Given the description of an element on the screen output the (x, y) to click on. 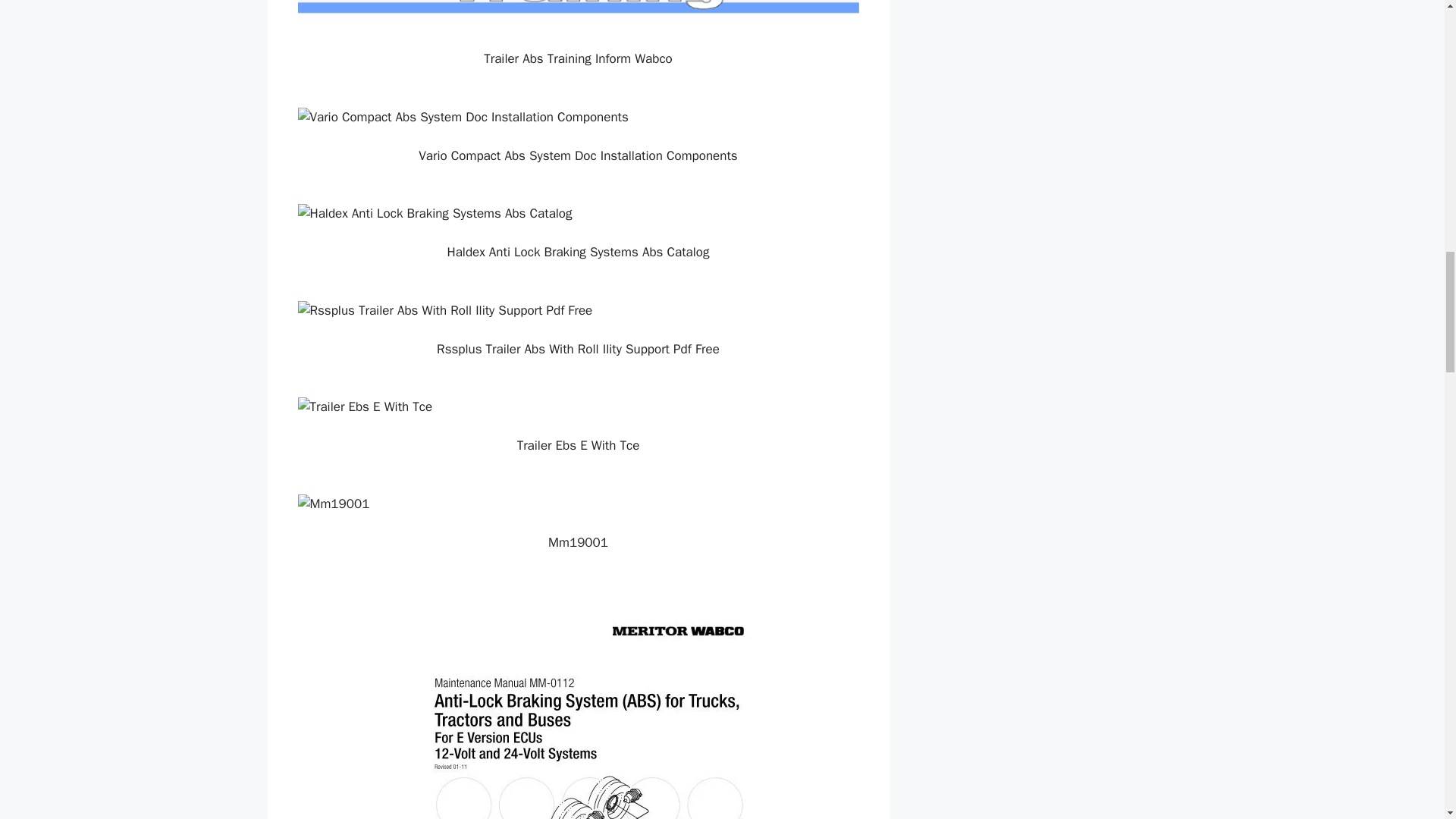
Vario Compact Abs System Doc Installation Components (578, 117)
Rssplus Trailer Abs With Roll Ility Support Pdf Free (578, 311)
Mm19001 (578, 504)
Trailer Ebs E With Tce (578, 406)
Anti Lock Braking System Abs For Trucks Meritor Wabco (577, 704)
Haldex Anti Lock Braking Systems Abs Catalog (578, 213)
Trailer Abs Training Inform Wabco (578, 15)
